Given the description of an element on the screen output the (x, y) to click on. 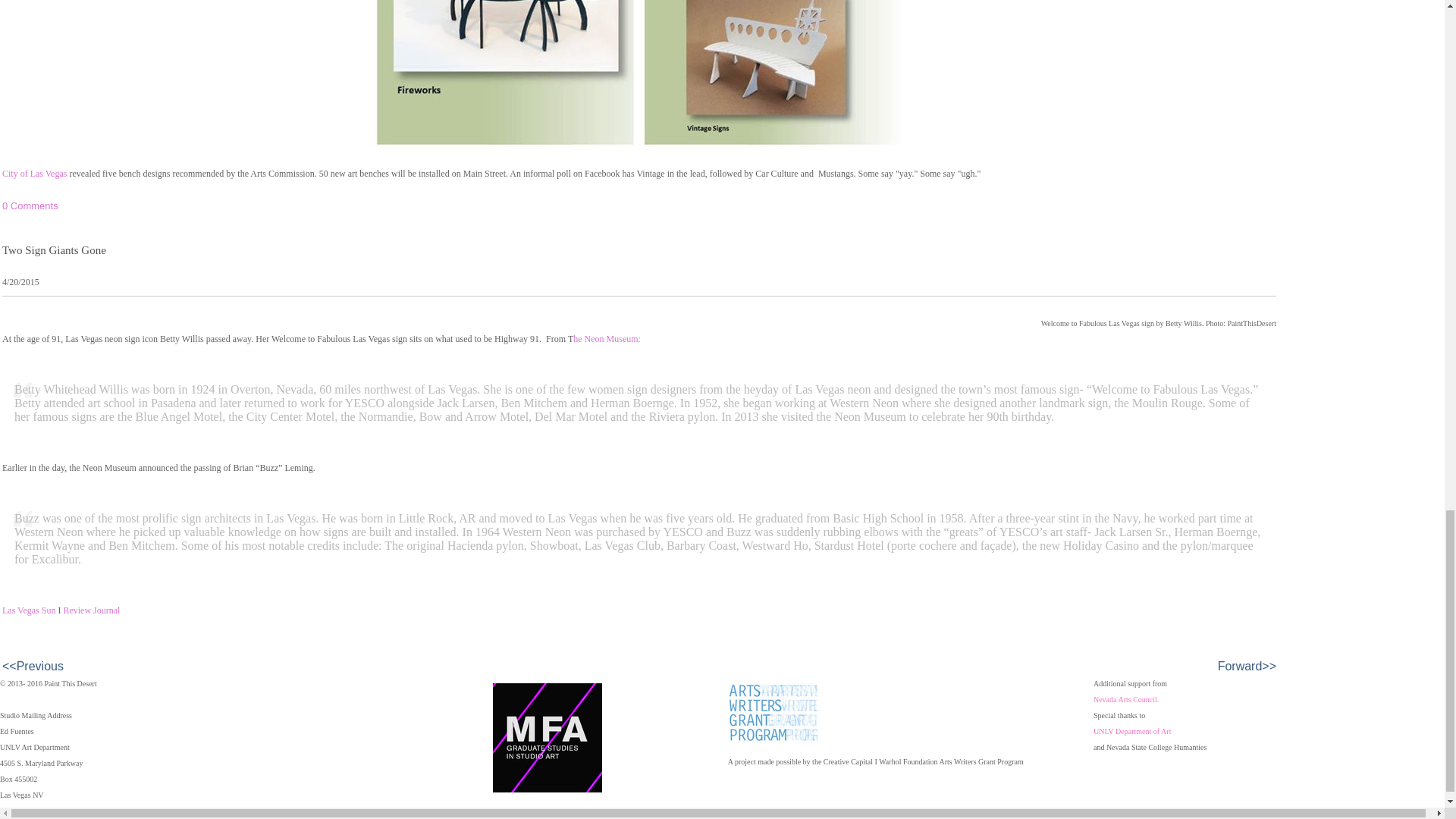
City of Las Vegas (34, 173)
he Neon Museum: (606, 338)
0 Comments (30, 205)
Review Journal (90, 610)
Las Vegas Sun (28, 610)
Two Sign Giants Gone (54, 250)
